Given the description of an element on the screen output the (x, y) to click on. 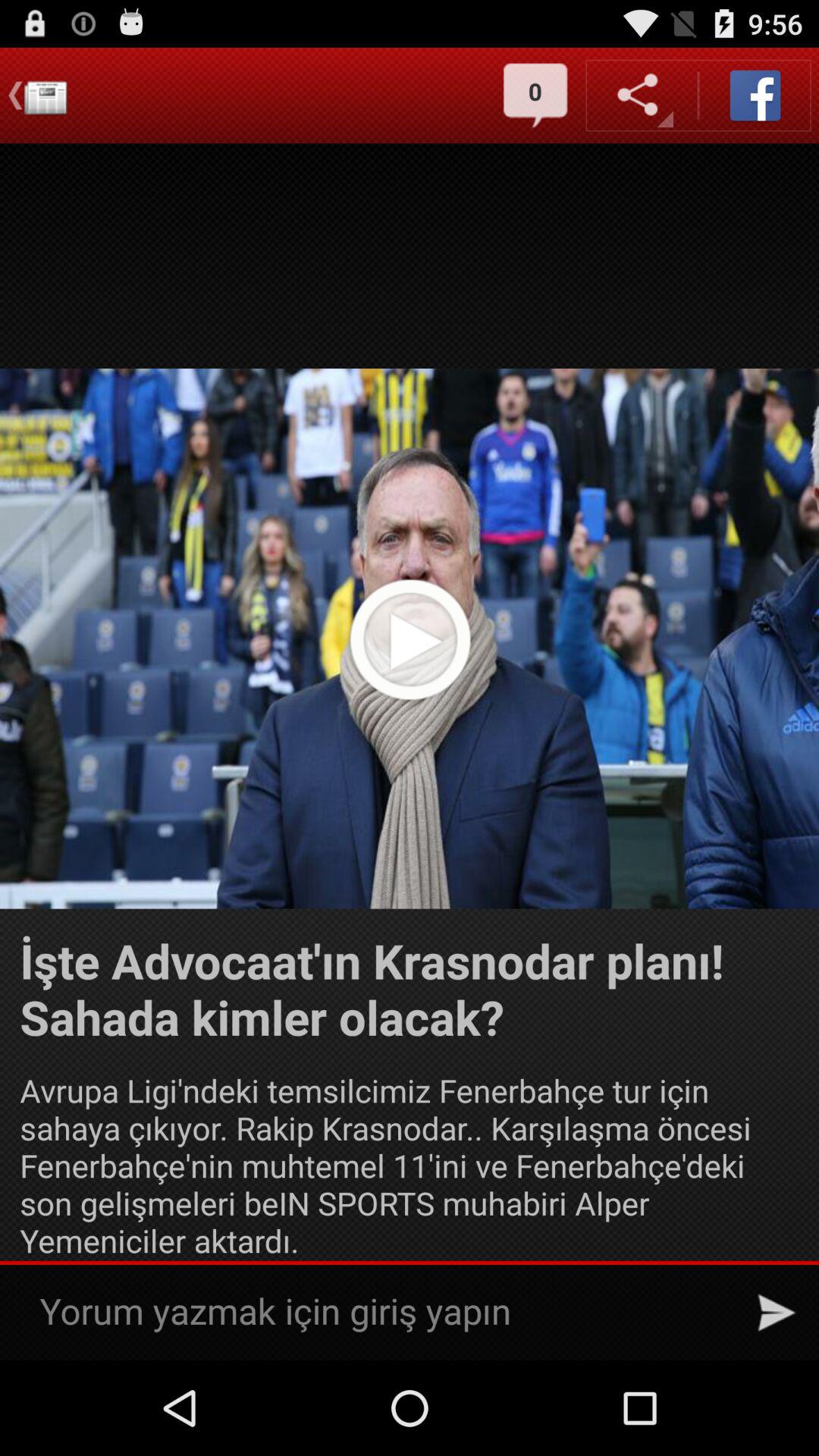
enter a url or search term to go to here (382, 1312)
